Given the description of an element on the screen output the (x, y) to click on. 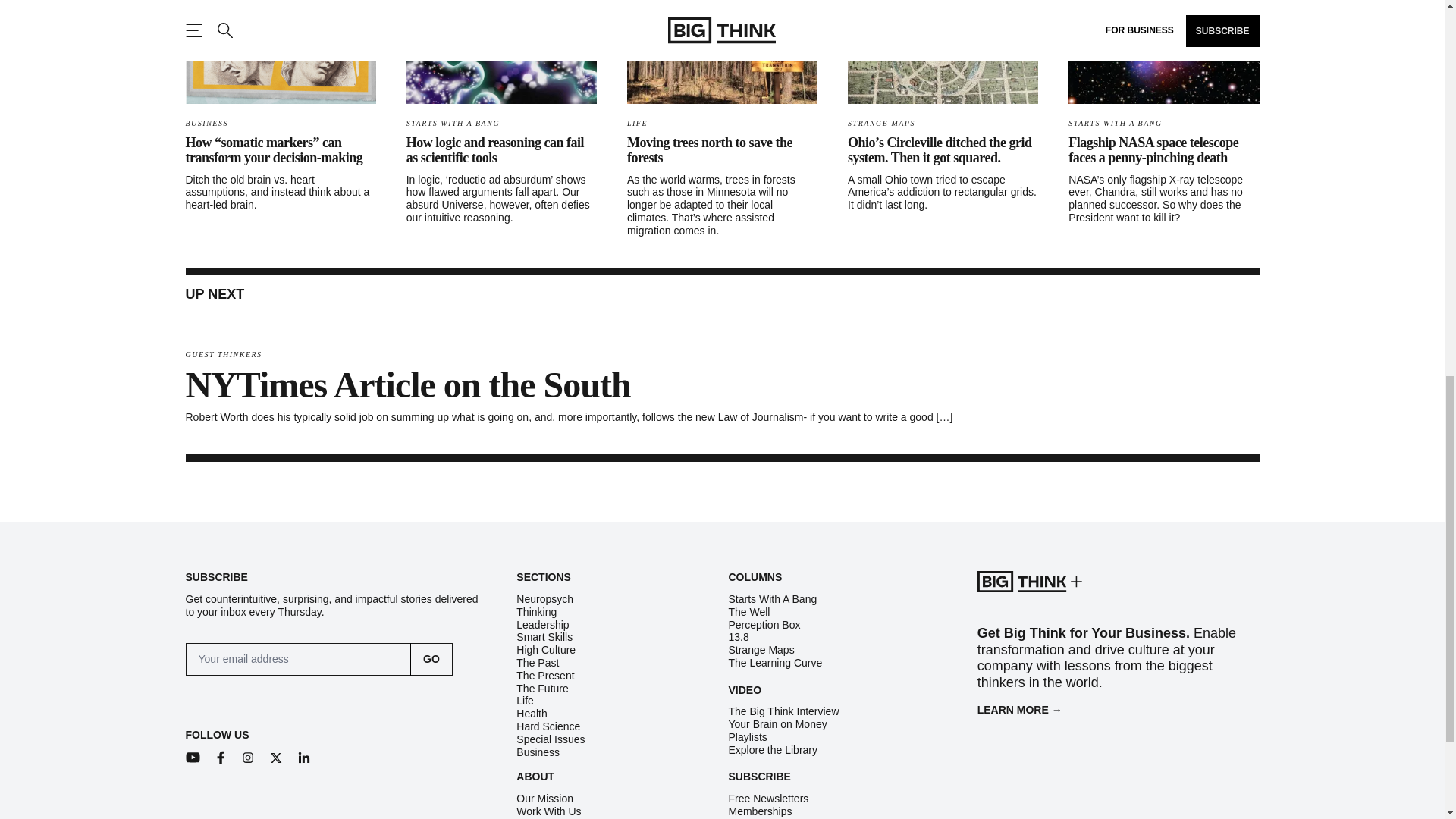
Go (431, 658)
